Given the description of an element on the screen output the (x, y) to click on. 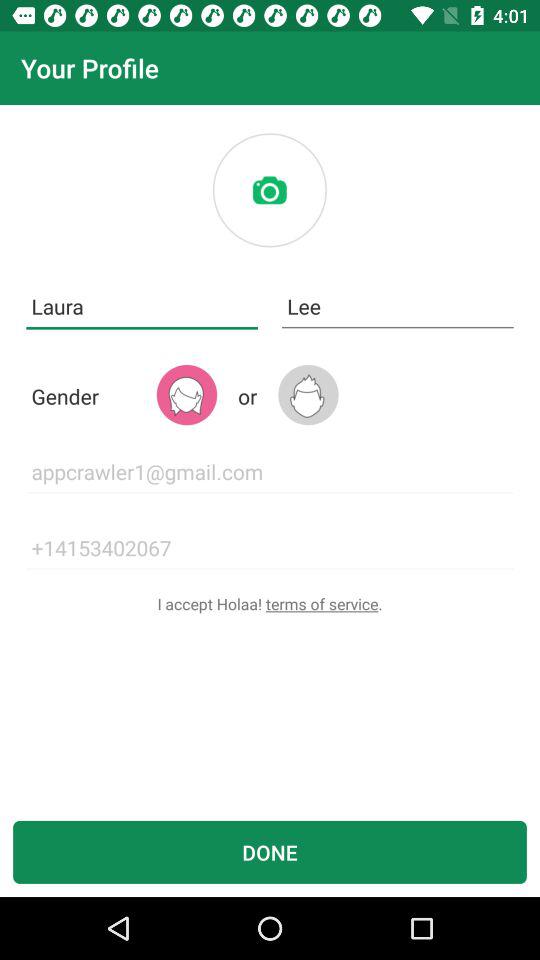
select the icon next to laura (397, 306)
